Given the description of an element on the screen output the (x, y) to click on. 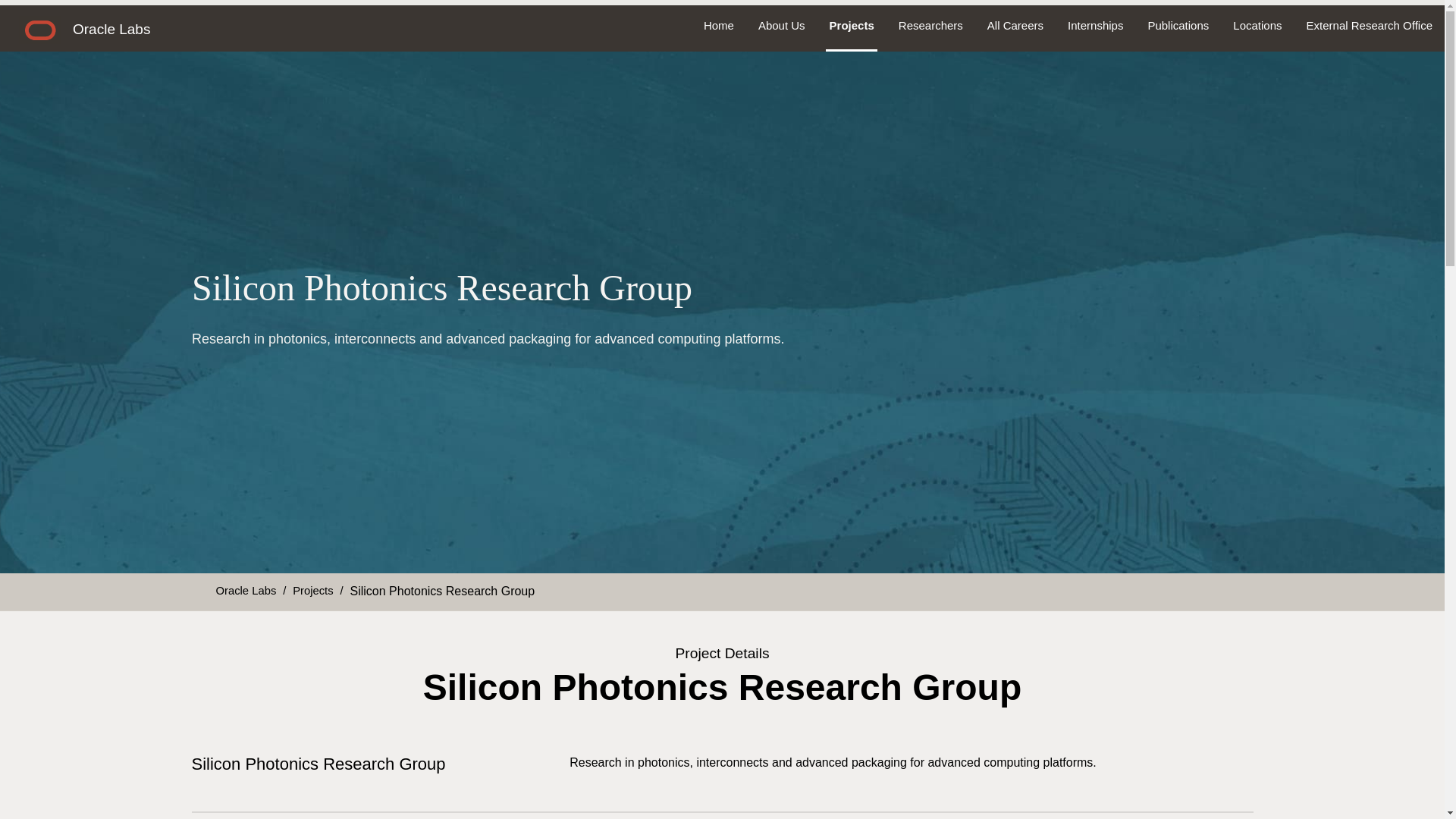
Internships (1095, 25)
Silicon Photonics Research Group (441, 591)
About Us (780, 25)
Projects (312, 590)
All Careers (1015, 25)
Researchers (930, 25)
Oracle Labs (111, 29)
Home (718, 25)
Projects (851, 25)
Oracle Labs (245, 590)
Publications (1178, 25)
Locations (1257, 25)
